Given the description of an element on the screen output the (x, y) to click on. 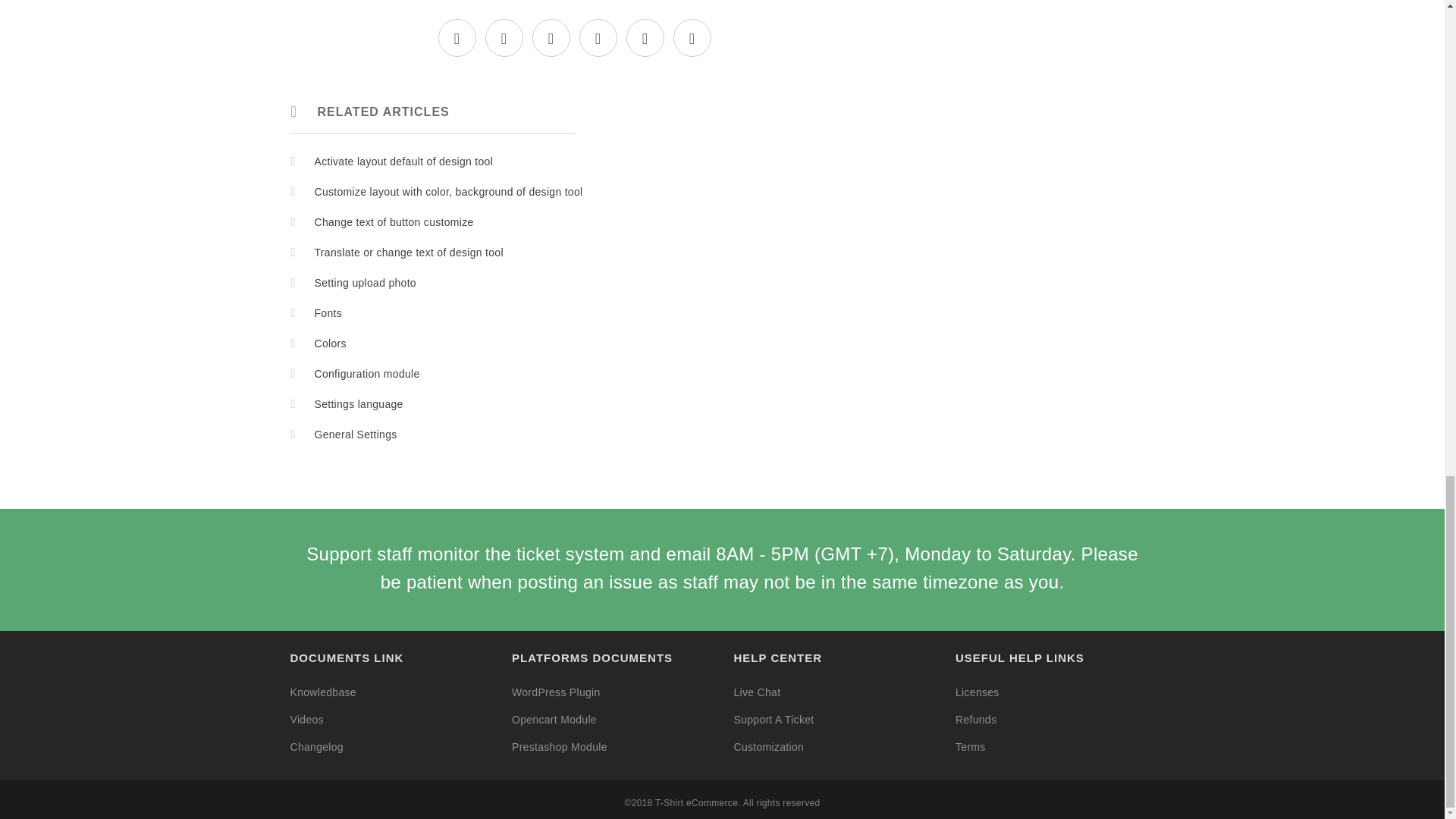
Activate layout default of design tool (403, 161)
Configuration module (366, 373)
facebook (503, 39)
Fonts (328, 313)
Customize layout with color, background of design tool (448, 191)
Colors (330, 343)
Setting upload photo (364, 282)
Translate or change text of design tool (408, 252)
Change text of button customize (393, 222)
Settings language (358, 404)
General Settings (355, 434)
